Given the description of an element on the screen output the (x, y) to click on. 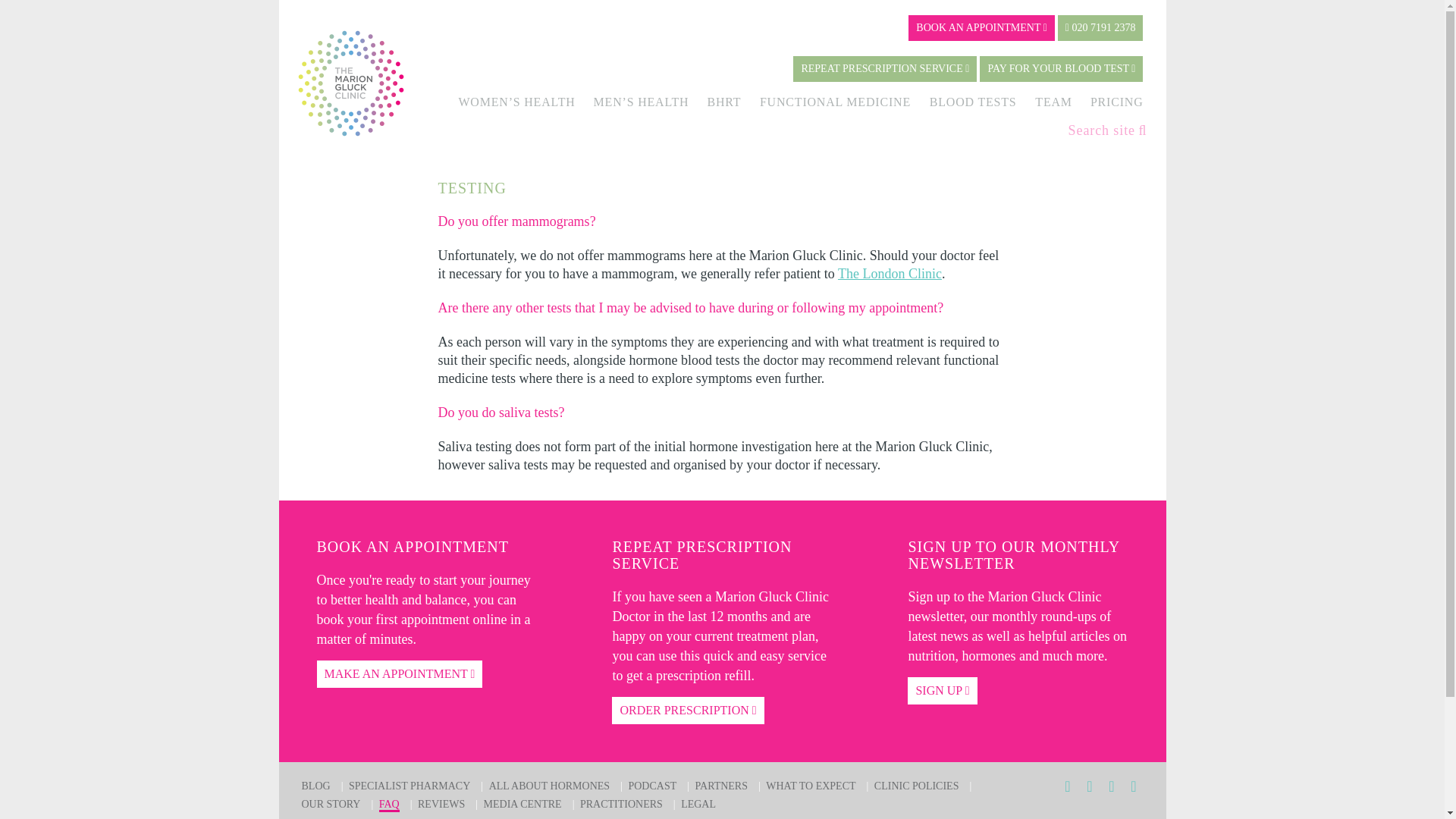
BHRT (723, 101)
TEAM (1053, 101)
Search site (1107, 130)
PAY FOR YOUR BLOOD TEST (1060, 68)
REPEAT PRESCRIPTION SERVICE (884, 68)
BOOK AN APPOINTMENT (981, 27)
PRICING (1116, 101)
FUNCTIONAL MEDICINE (835, 101)
BLOOD TESTS (973, 101)
